Given the description of an element on the screen output the (x, y) to click on. 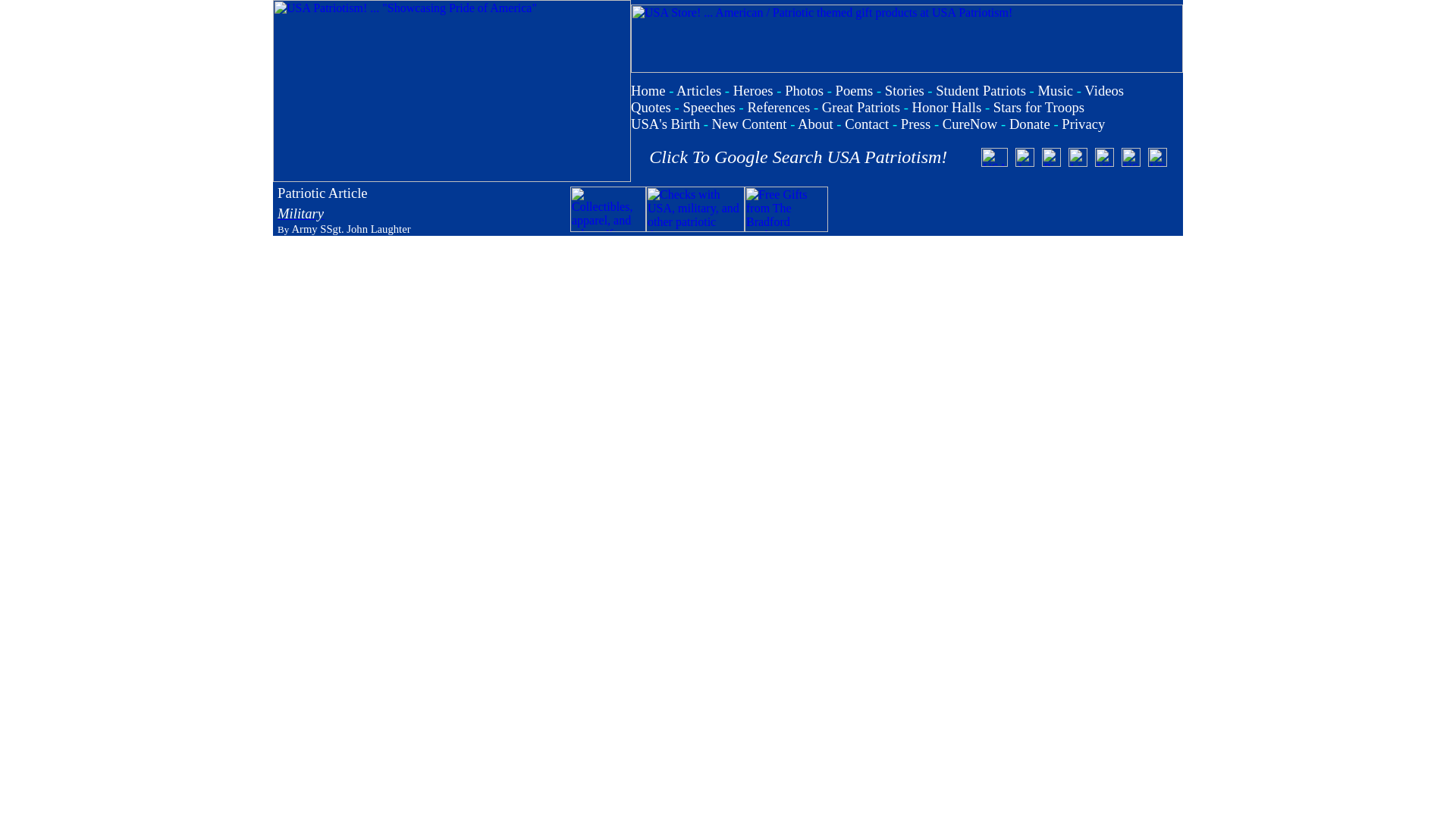
Articles (698, 90)
Home (647, 90)
Donate (1029, 123)
Great Patriots (860, 107)
Honor Halls (946, 107)
CureNow (969, 123)
Privacy (1083, 123)
Stories (904, 90)
Heroes (753, 90)
Military (300, 213)
